Given the description of an element on the screen output the (x, y) to click on. 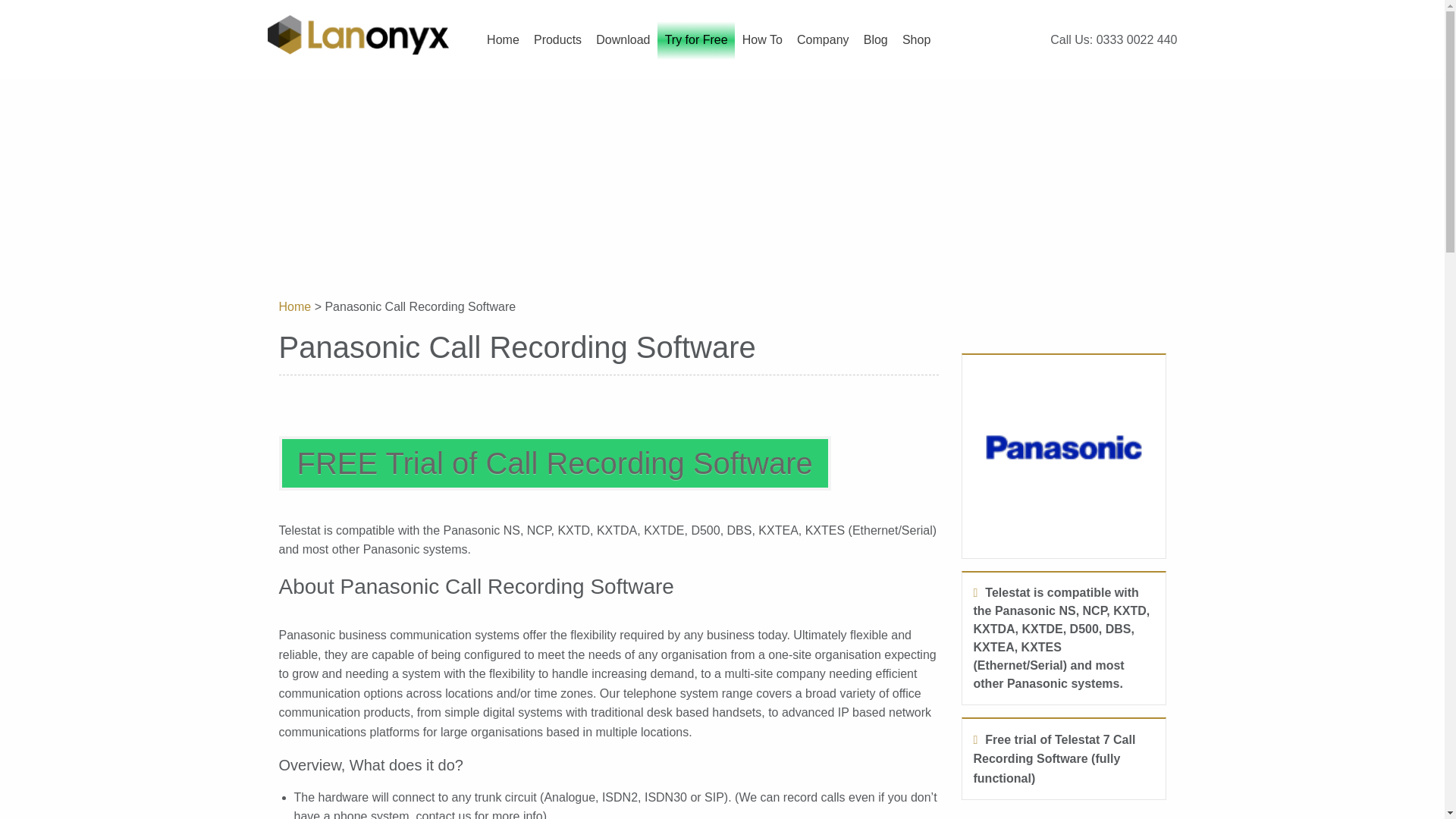
Download (623, 46)
Products (556, 46)
Try for Free (696, 46)
Lanonyx (357, 33)
FREE Trial of Call Recording Software (555, 462)
Company (822, 46)
